Given the description of an element on the screen output the (x, y) to click on. 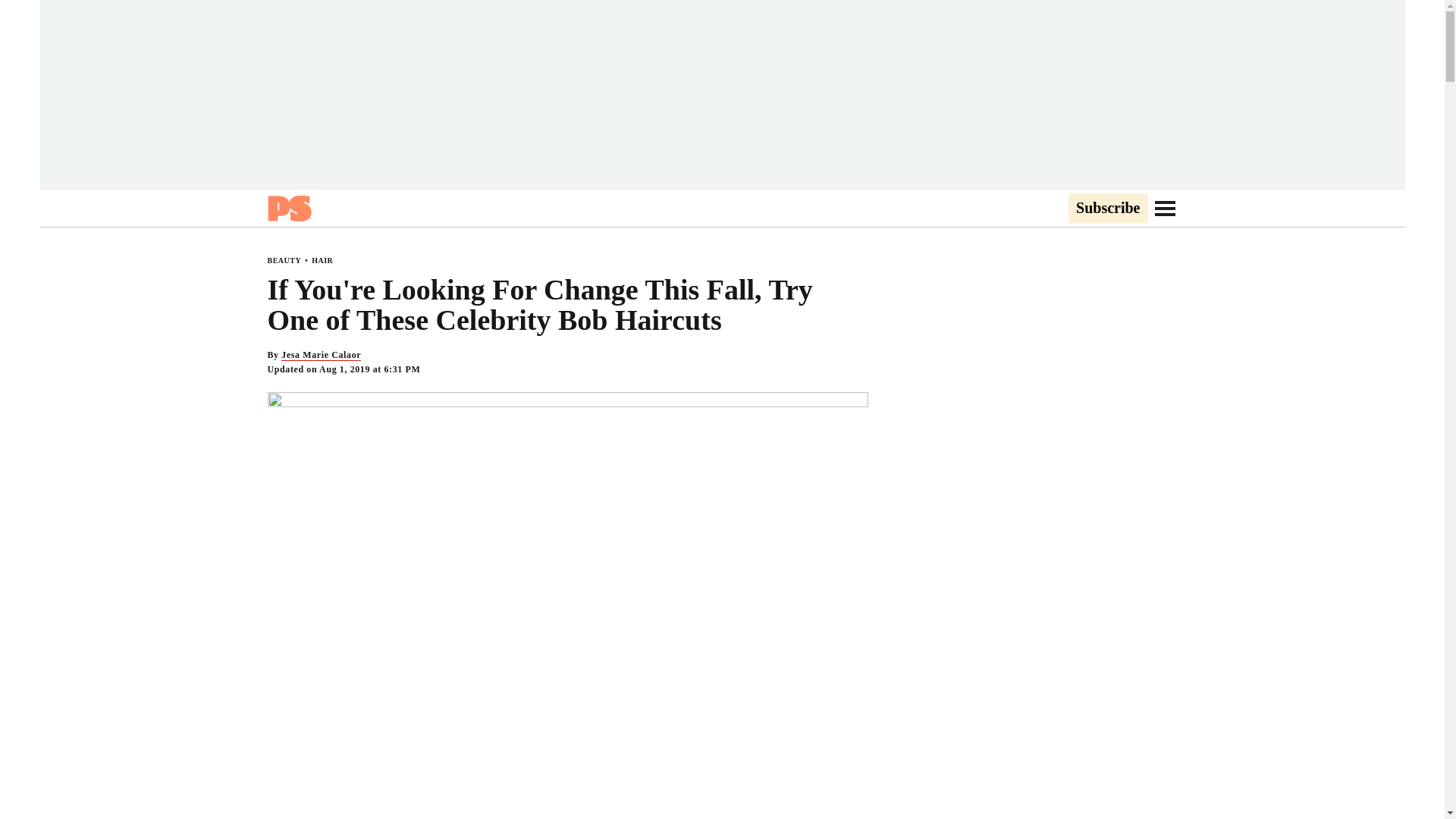
Popsugar (288, 208)
Jesa Marie Calaor (321, 355)
HAIR (322, 260)
BEAUTY (283, 260)
Go to Navigation (1164, 207)
Subscribe (1107, 208)
Go to Navigation (1164, 207)
